Given the description of an element on the screen output the (x, y) to click on. 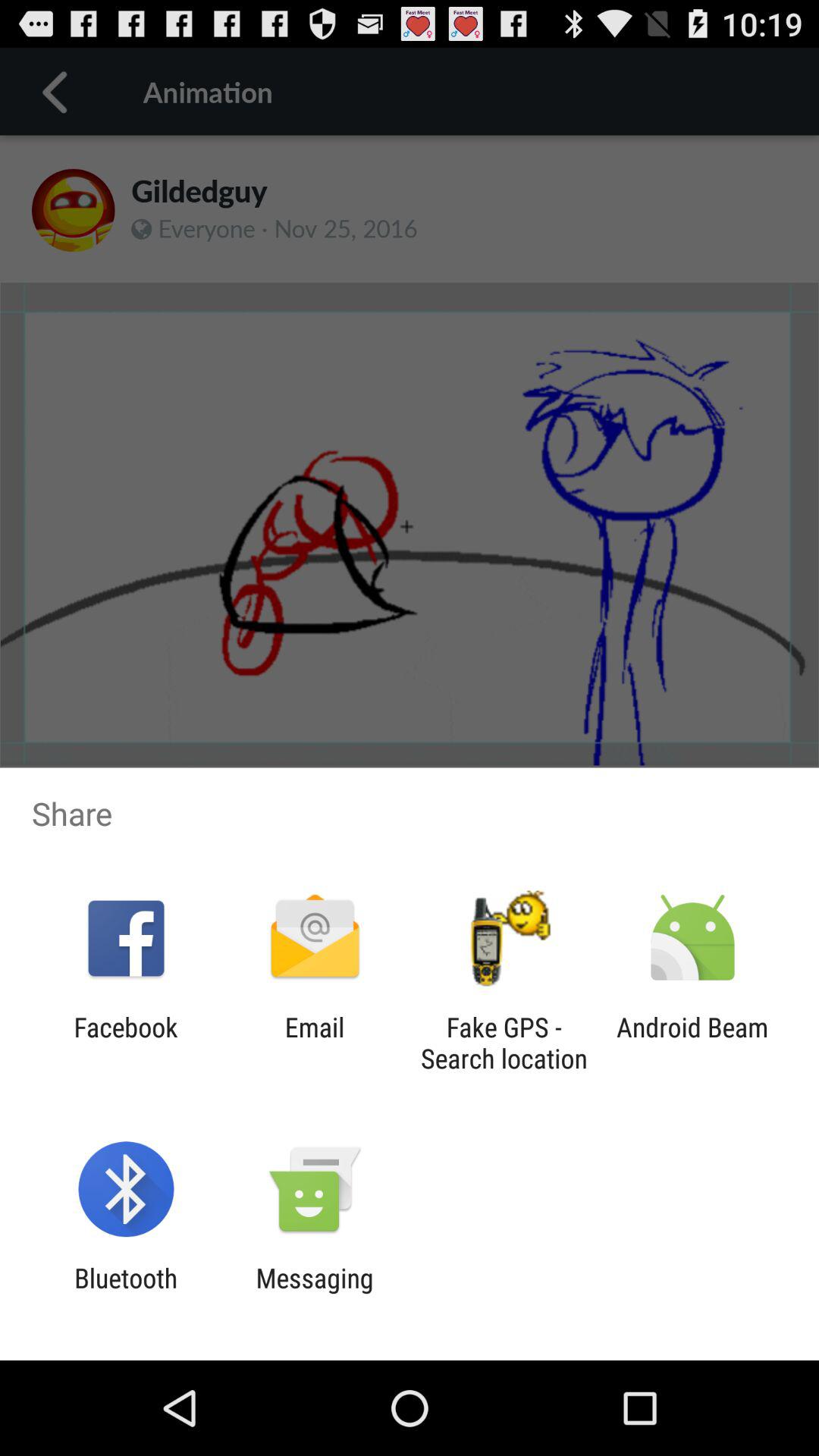
launch item next to the bluetooth (314, 1293)
